Given the description of an element on the screen output the (x, y) to click on. 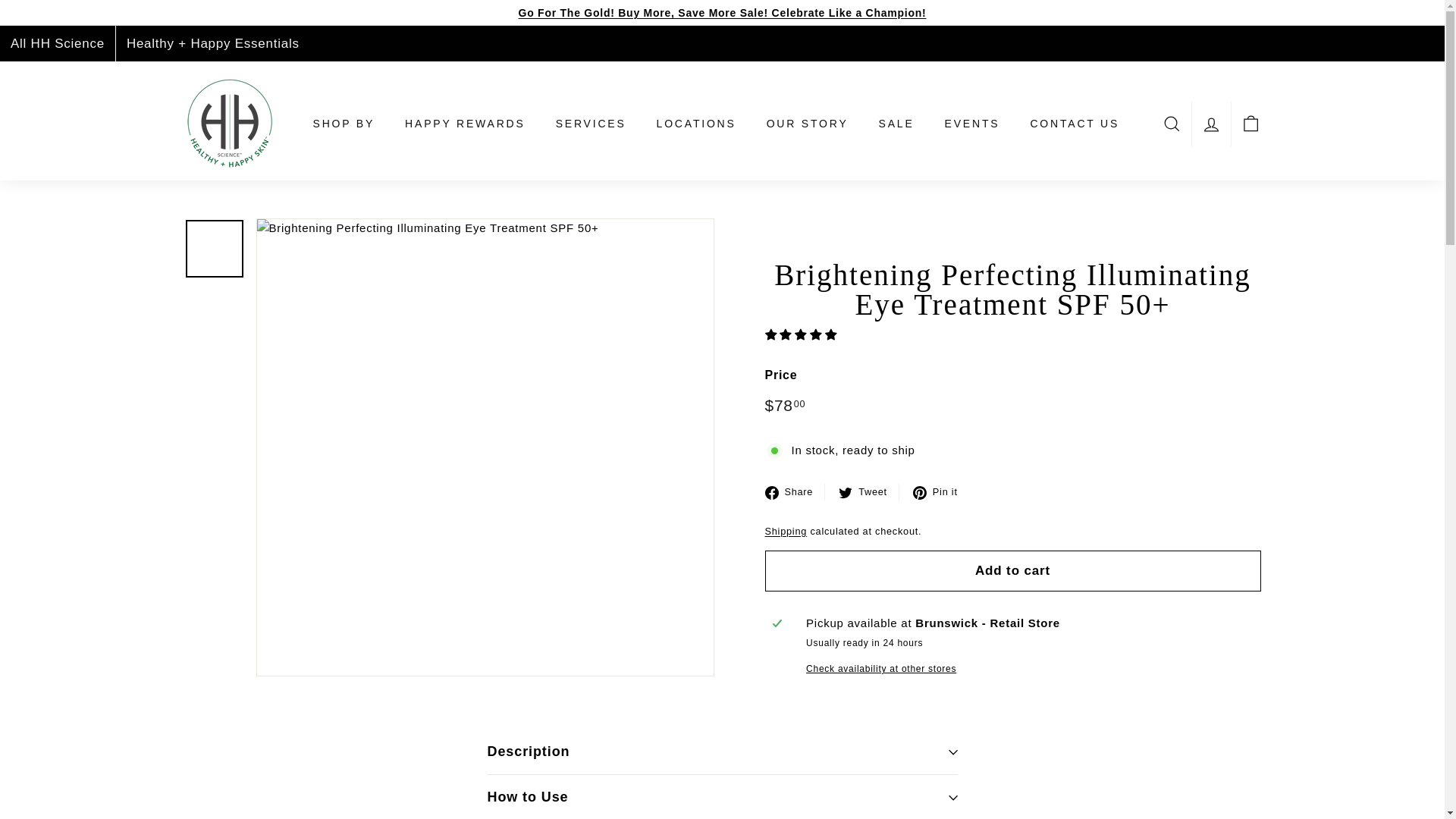
Sale (722, 12)
Pin on Pinterest (940, 492)
All HH Science (58, 43)
Tweet on Twitter (868, 492)
SHOP BY (343, 123)
Share on Facebook (794, 492)
